Given the description of an element on the screen output the (x, y) to click on. 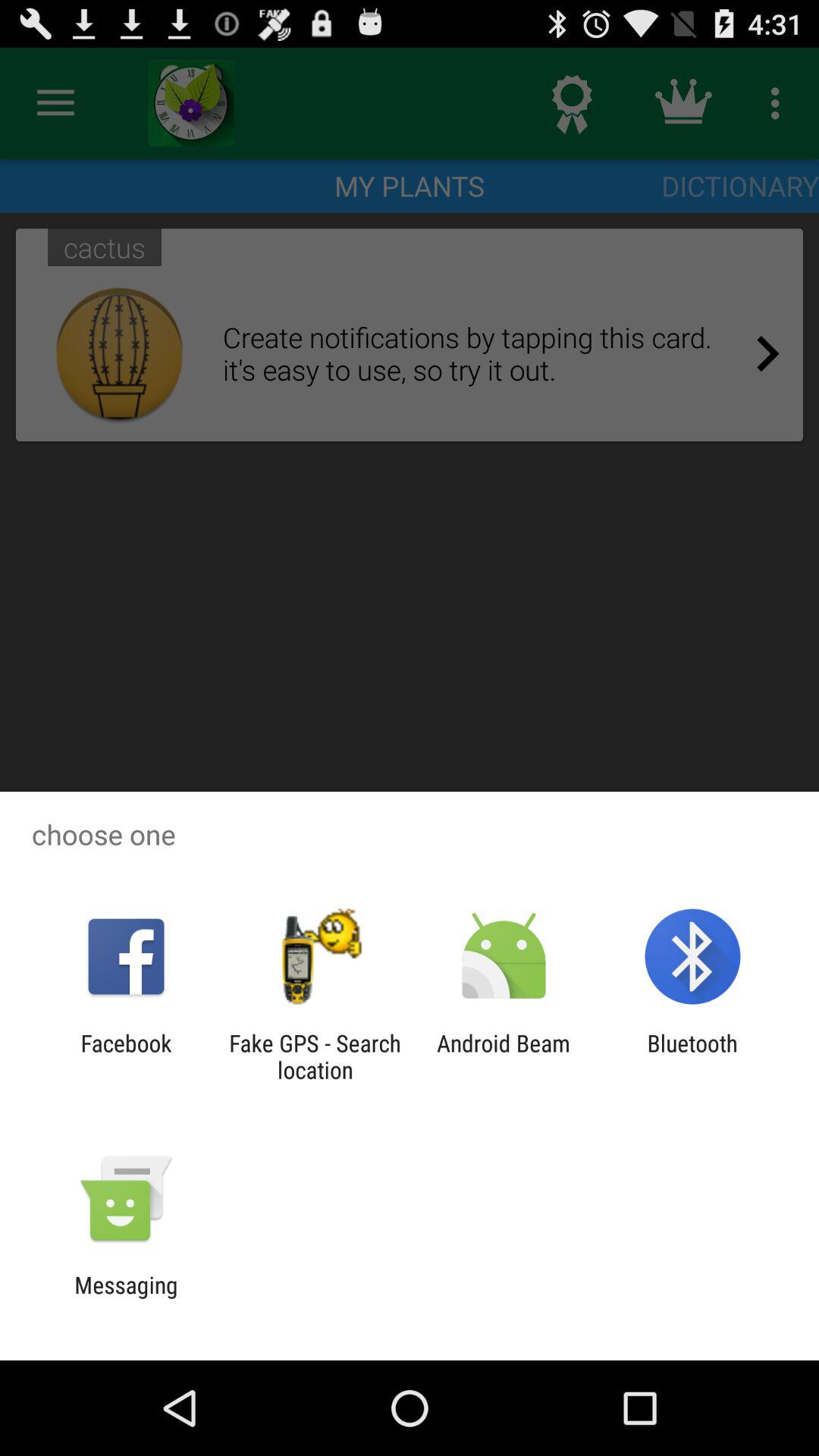
open fake gps search app (314, 1056)
